Given the description of an element on the screen output the (x, y) to click on. 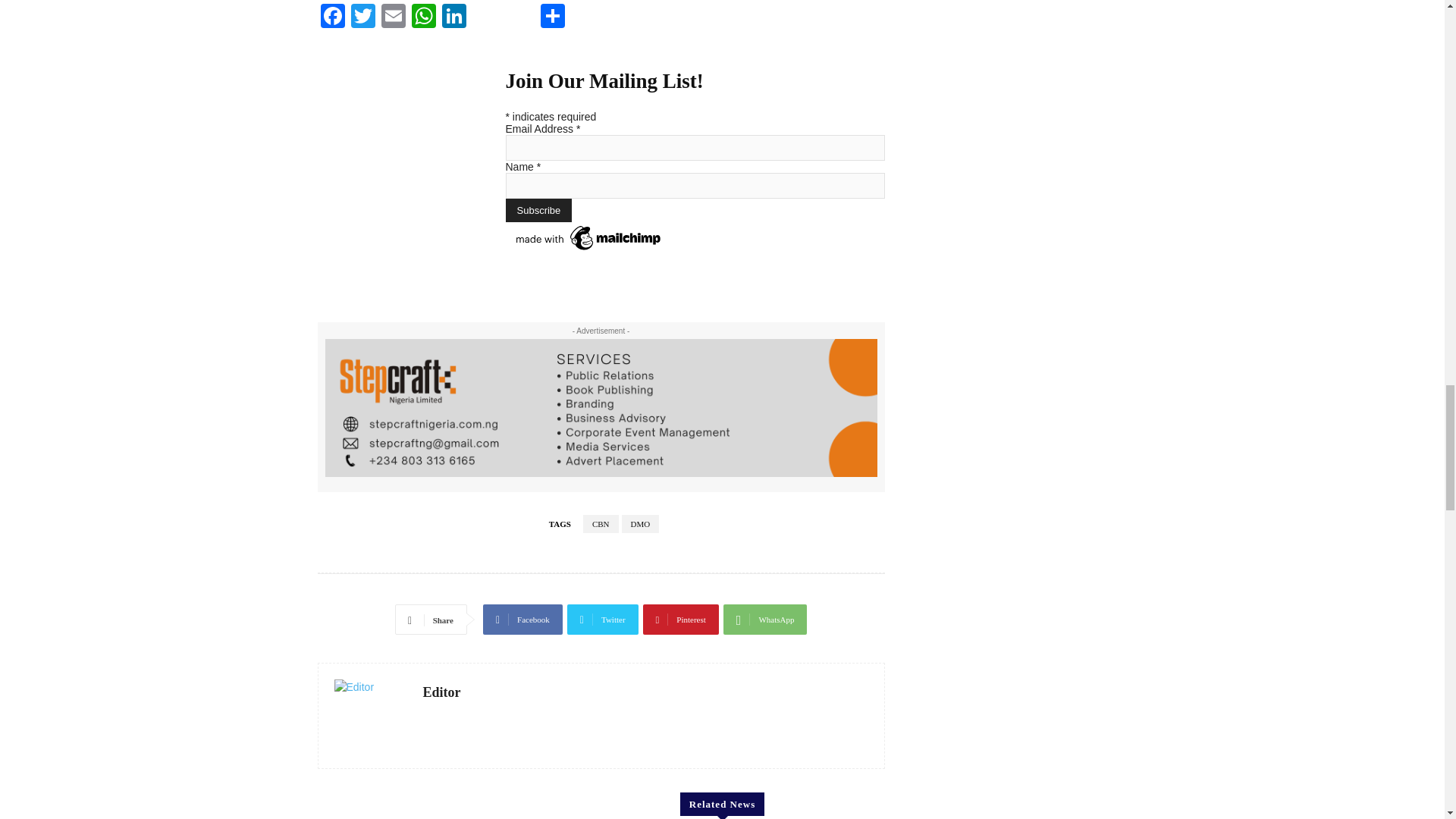
Subscribe (538, 210)
